Given the description of an element on the screen output the (x, y) to click on. 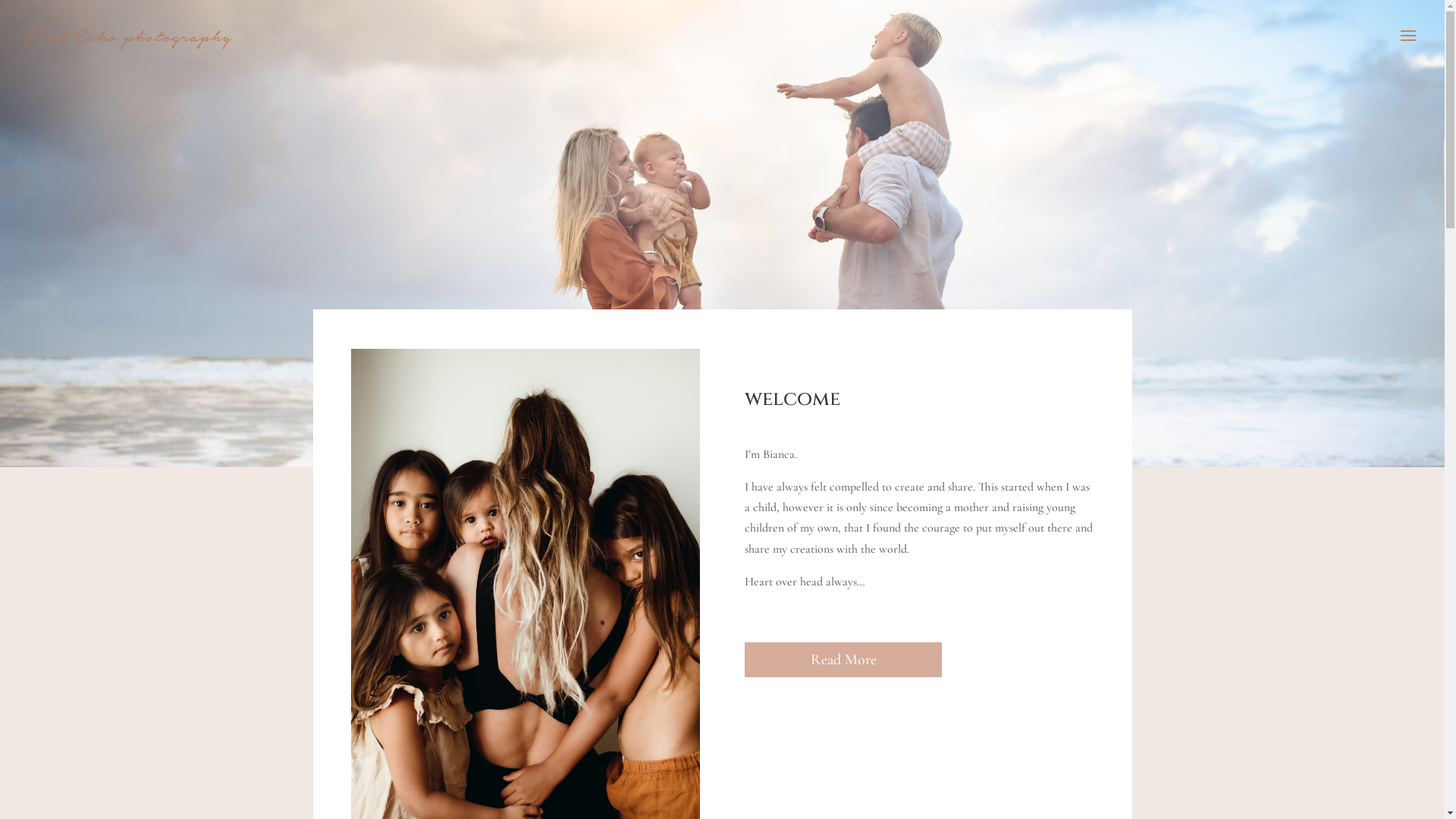
Read More Element type: text (842, 659)
